Given the description of an element on the screen output the (x, y) to click on. 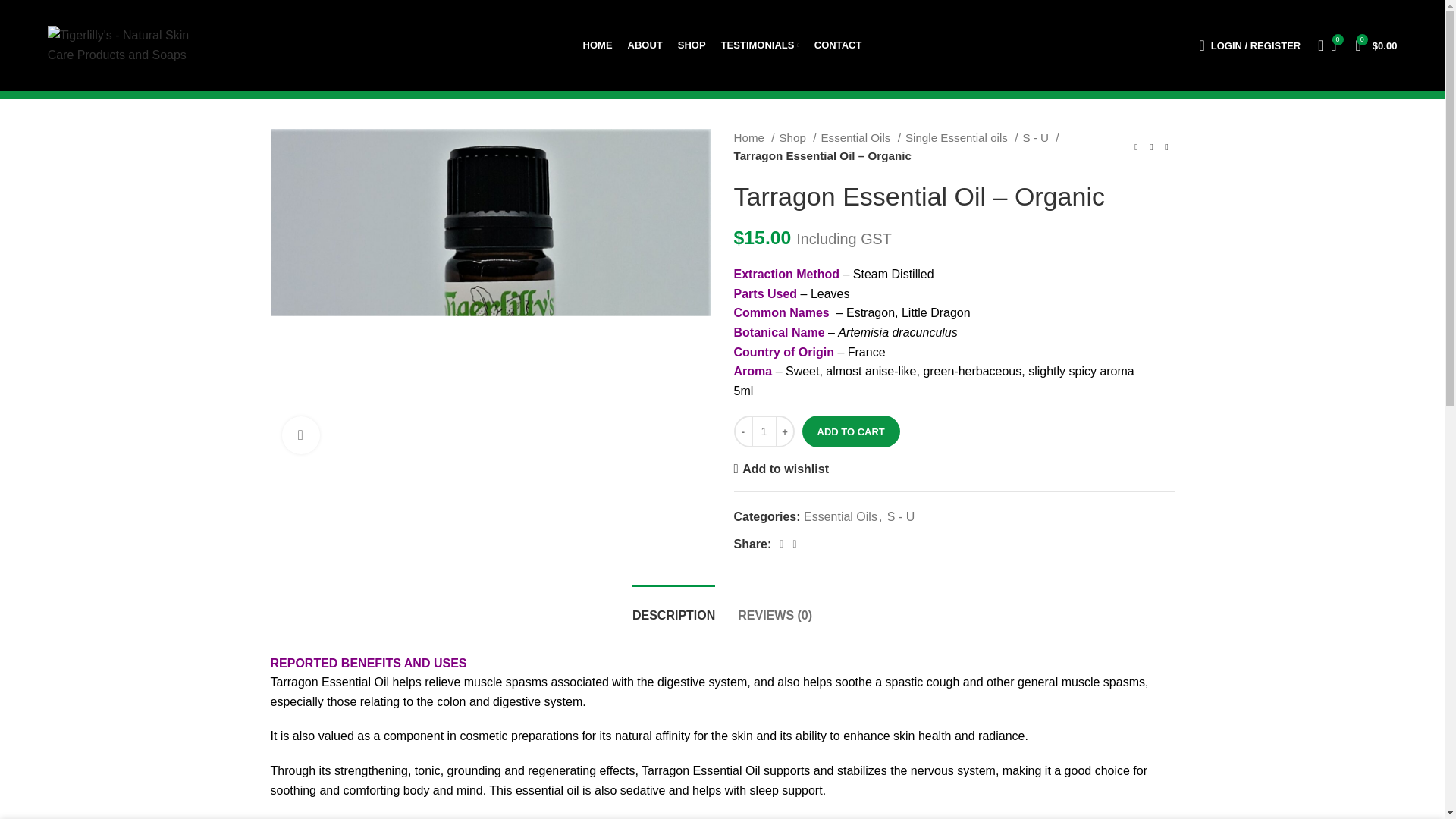
HOME (597, 45)
S - U (1040, 137)
My account (1249, 45)
Essential Oils (860, 137)
Shop (796, 137)
SHOP (692, 45)
Log in (1174, 294)
TESTIMONIALS (759, 45)
Shopping cart (1376, 45)
